Given the description of an element on the screen output the (x, y) to click on. 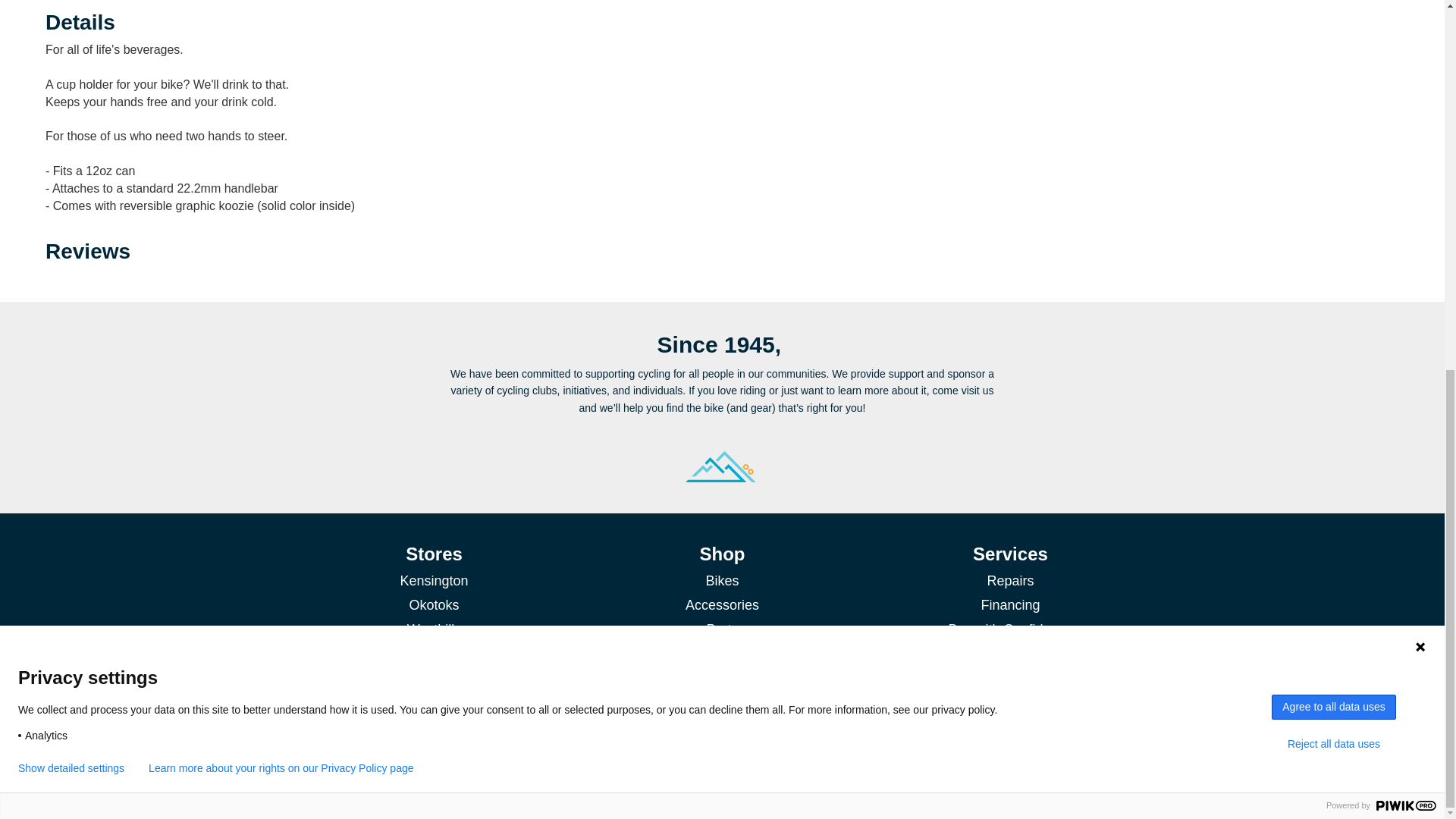
Piwik PRO (1405, 132)
